Given the description of an element on the screen output the (x, y) to click on. 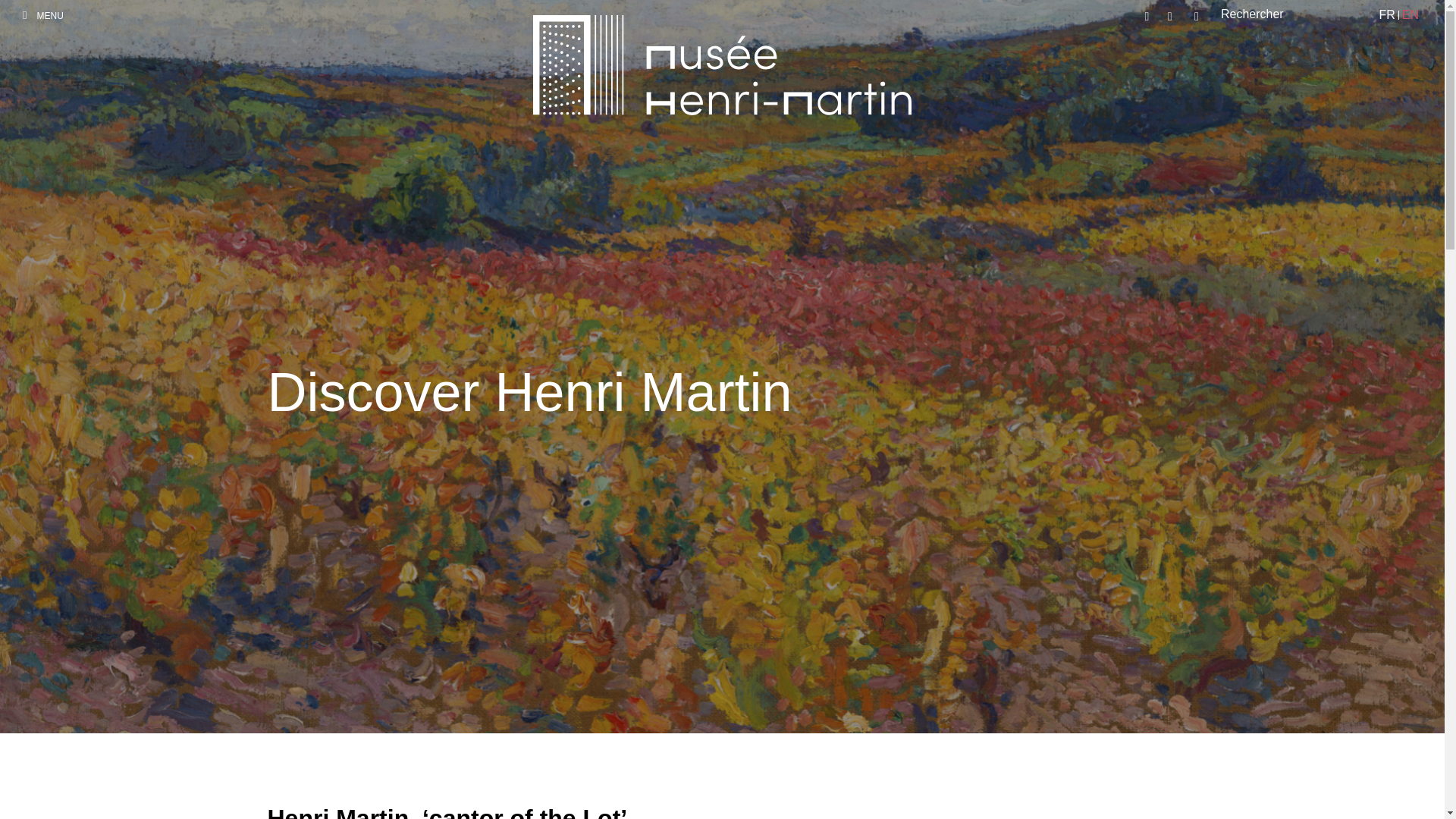
FR (1386, 14)
Search (1218, 17)
MENU (43, 15)
English (1410, 14)
EN (1410, 14)
Search (1218, 17)
Enter the terms you wish to search for. (1282, 15)
